Given the description of an element on the screen output the (x, y) to click on. 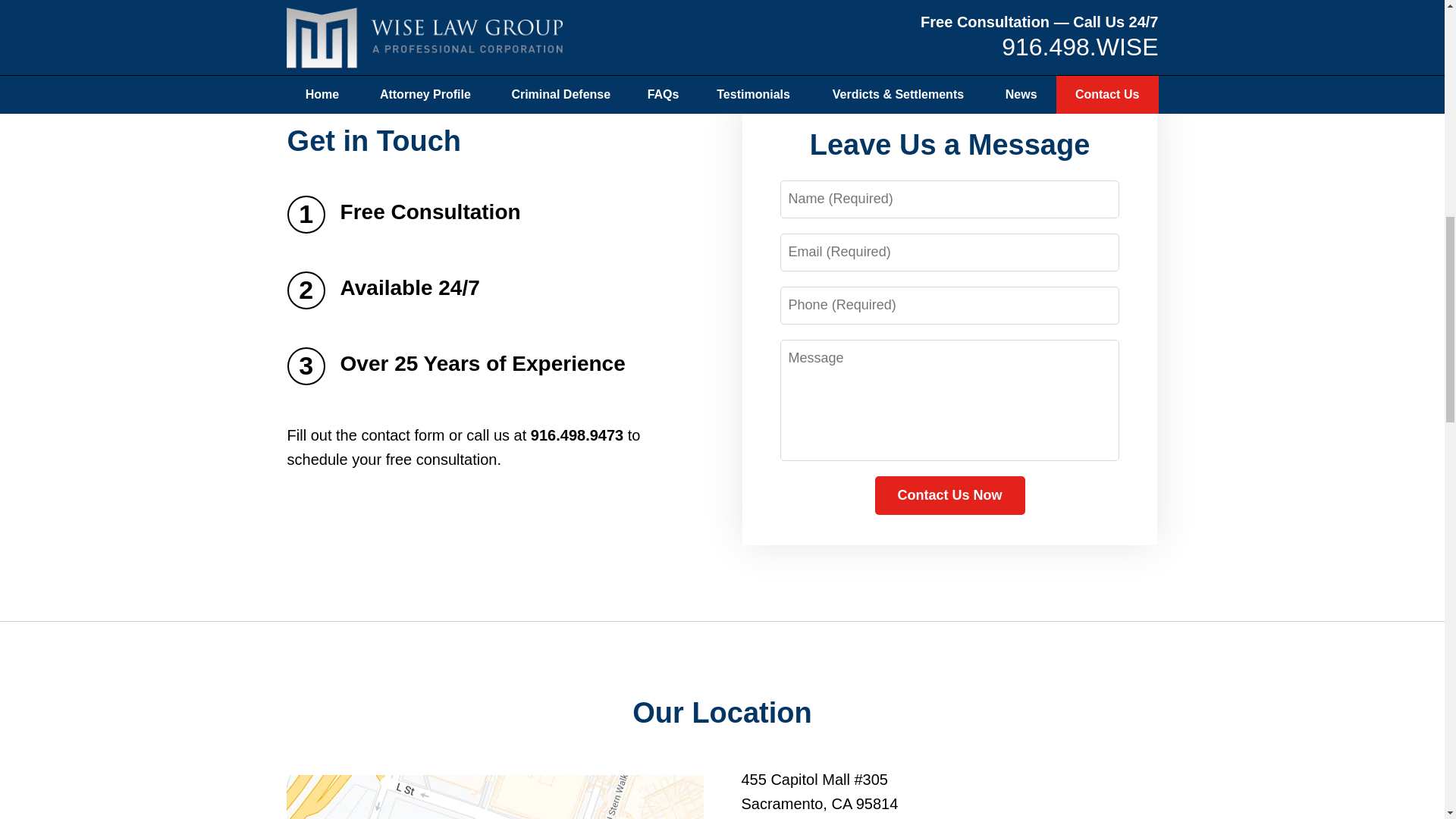
Contact Us Now (950, 495)
Sacramento criminal defense lawyer (720, 4)
